Given the description of an element on the screen output the (x, y) to click on. 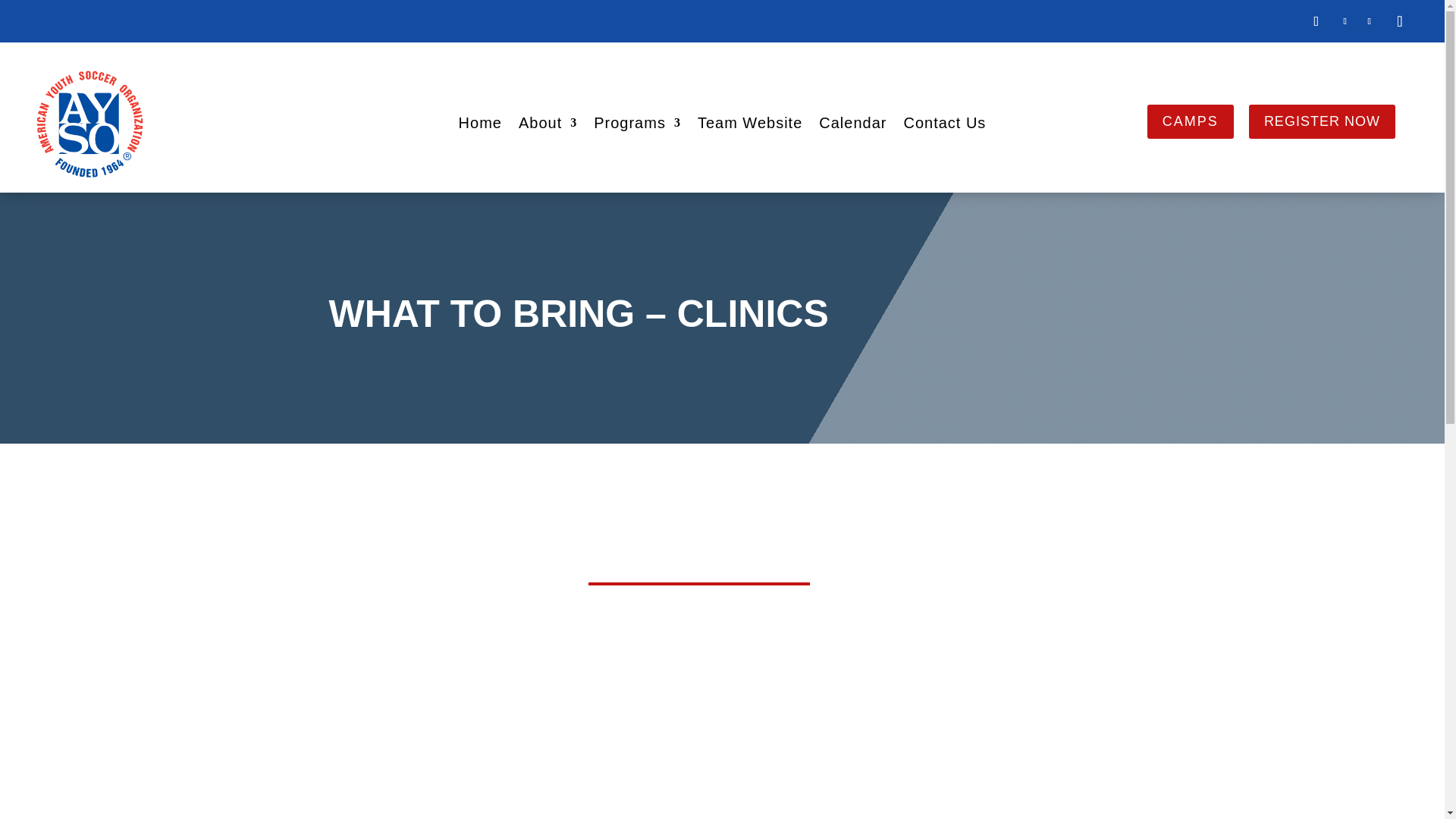
cropped-AYSO-LOGO.png (89, 123)
Follow on Facebook (1316, 21)
Calendar (852, 125)
Team Website (749, 125)
Home (480, 125)
CAMPS (1190, 121)
Programs (637, 125)
About (547, 125)
Follow on X (1345, 21)
Contact Us (943, 125)
Follow on Youtube (1399, 20)
Follow on Instagram (1368, 21)
REGISTER NOW (1321, 121)
